Given the description of an element on the screen output the (x, y) to click on. 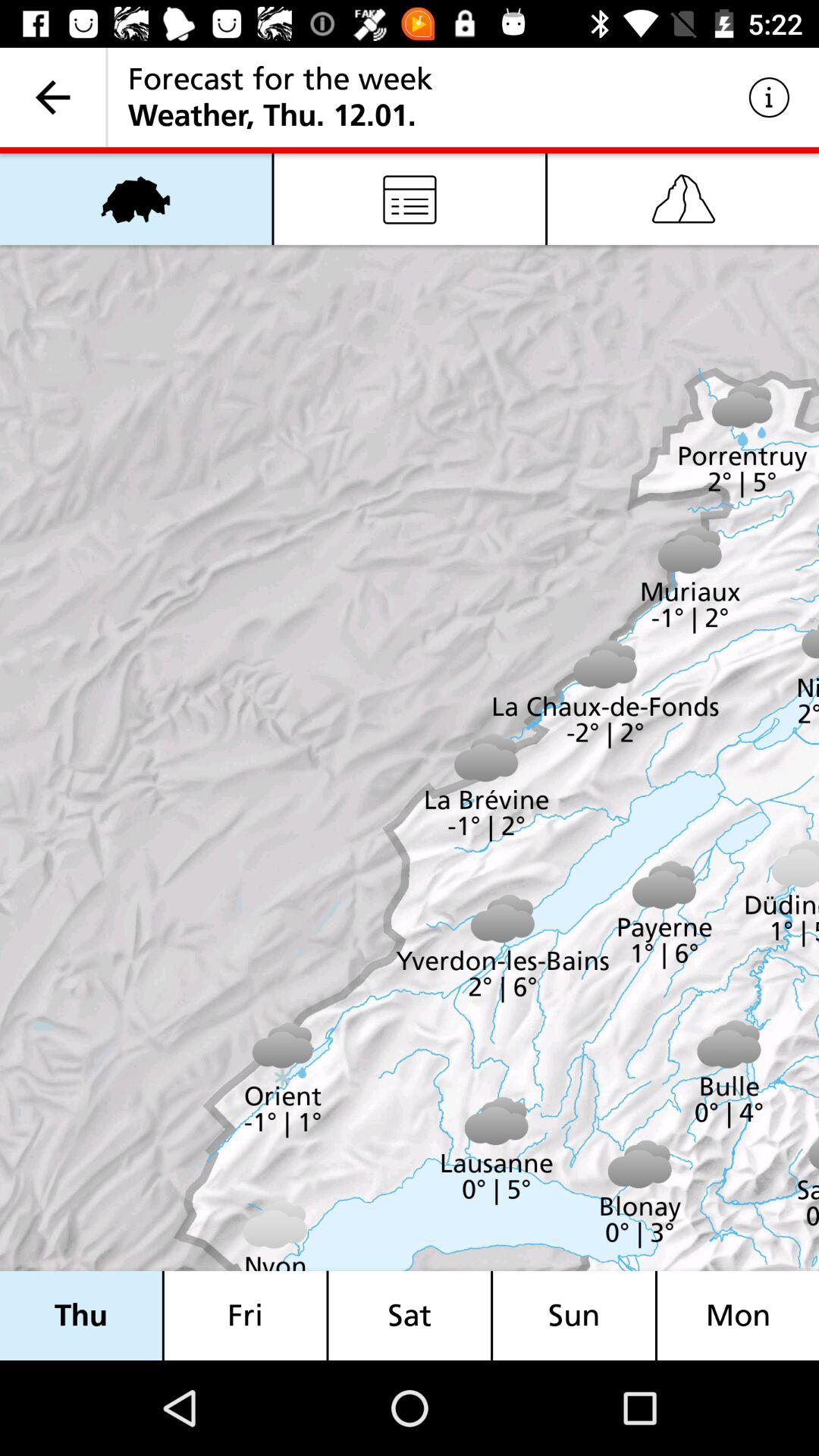
launch item next to the sat (574, 1315)
